Given the description of an element on the screen output the (x, y) to click on. 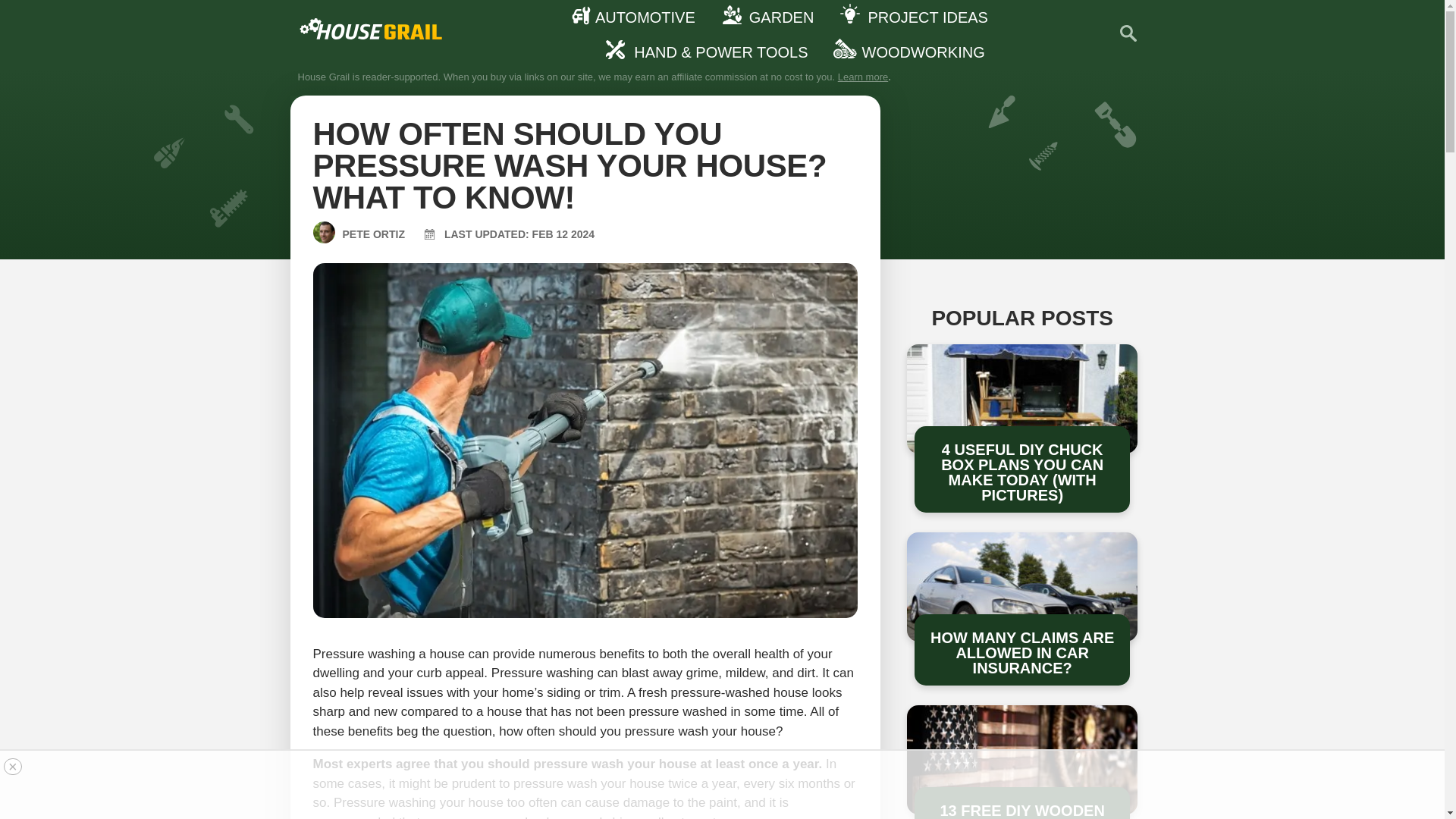
GARDEN (771, 17)
Learn more (863, 76)
HOW MANY CLAIMS ARE ALLOWED IN CAR INSURANCE? (1021, 652)
PROJECT IDEAS (918, 17)
AUTOMOTIVE (635, 17)
WOODWORKING (913, 52)
